Given the description of an element on the screen output the (x, y) to click on. 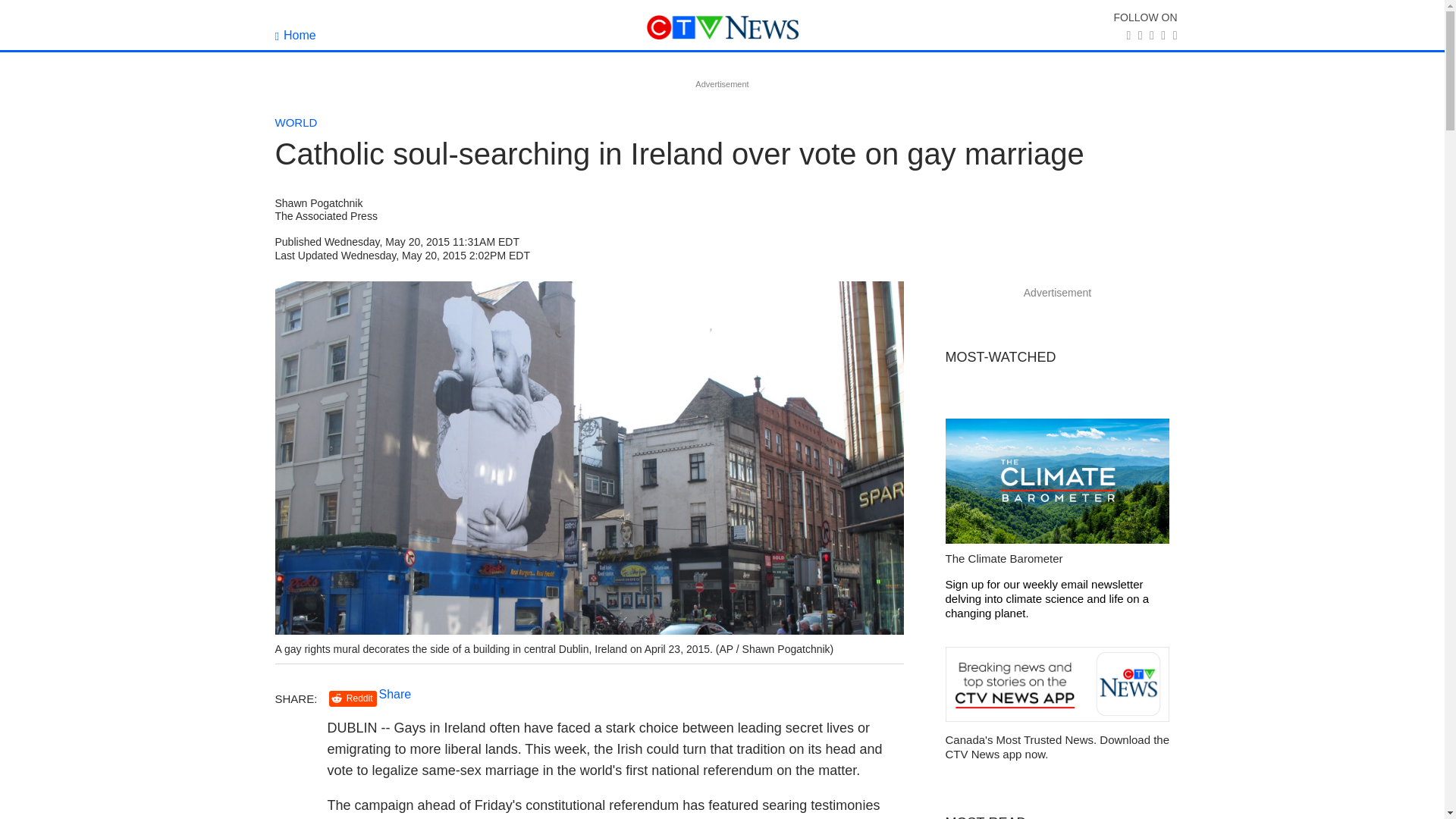
Home (295, 34)
WORLD (296, 122)
Reddit (353, 698)
Share (395, 694)
